Given the description of an element on the screen output the (x, y) to click on. 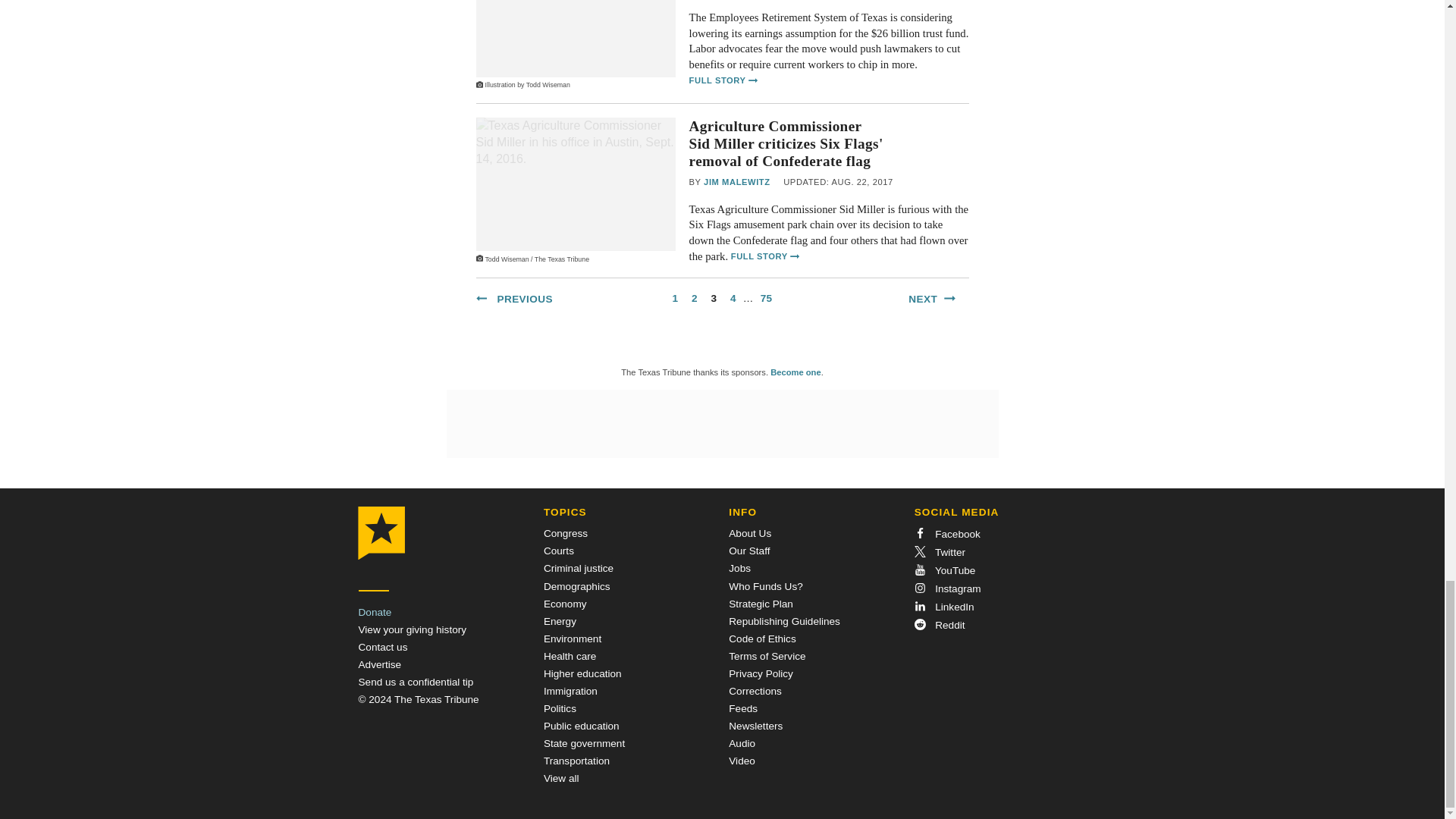
Strategic Plan (761, 603)
Advertise (379, 664)
View your giving history (411, 629)
Who Funds Us? (765, 585)
About Us (750, 532)
Contact us (382, 646)
Donate (374, 612)
Republishing Guidelines (784, 621)
2017-08-22 12:40 CDT (838, 182)
Send a Tip (415, 681)
